Given the description of an element on the screen output the (x, y) to click on. 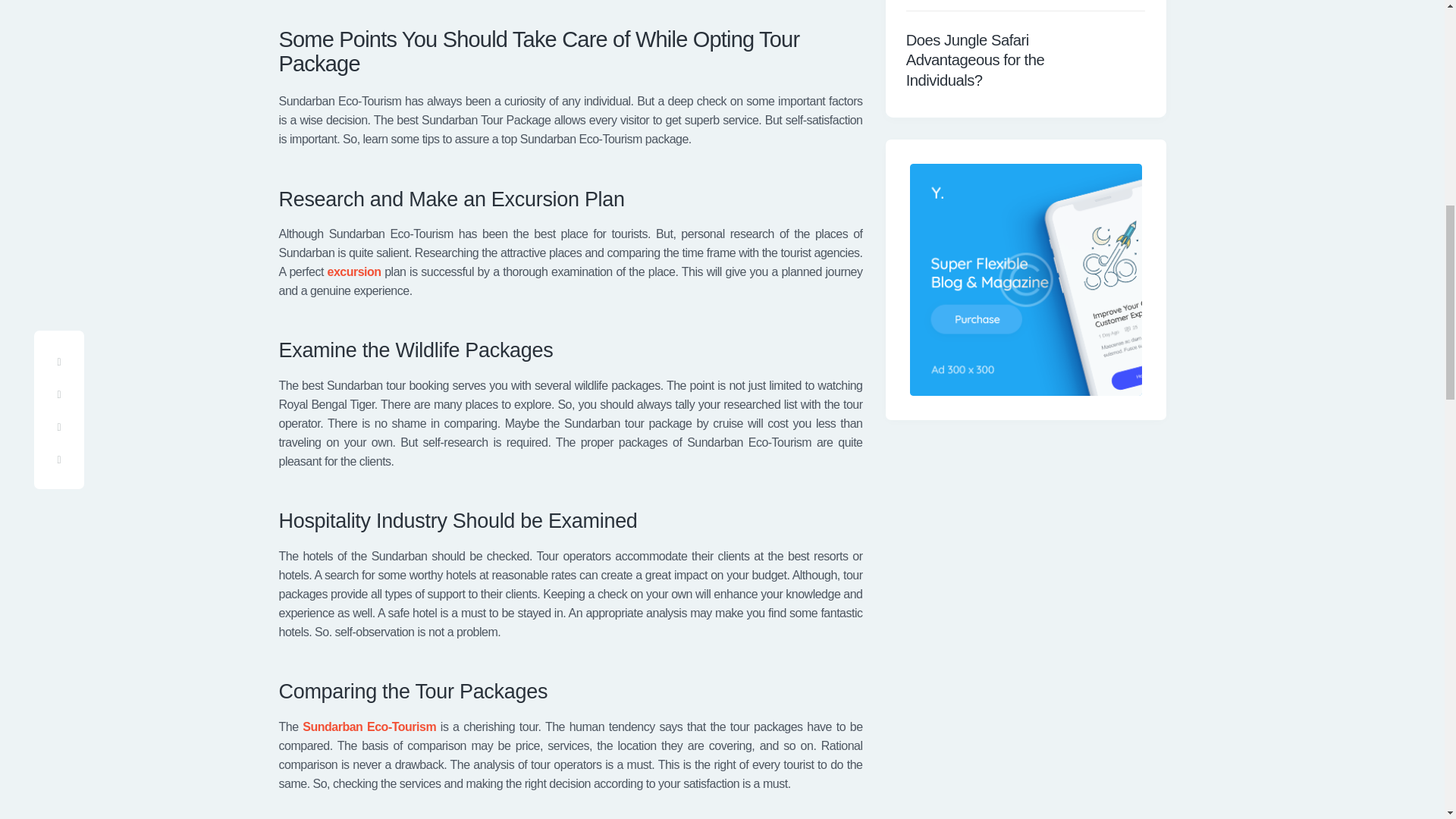
Sundarban Tourism (368, 726)
